Given the description of an element on the screen output the (x, y) to click on. 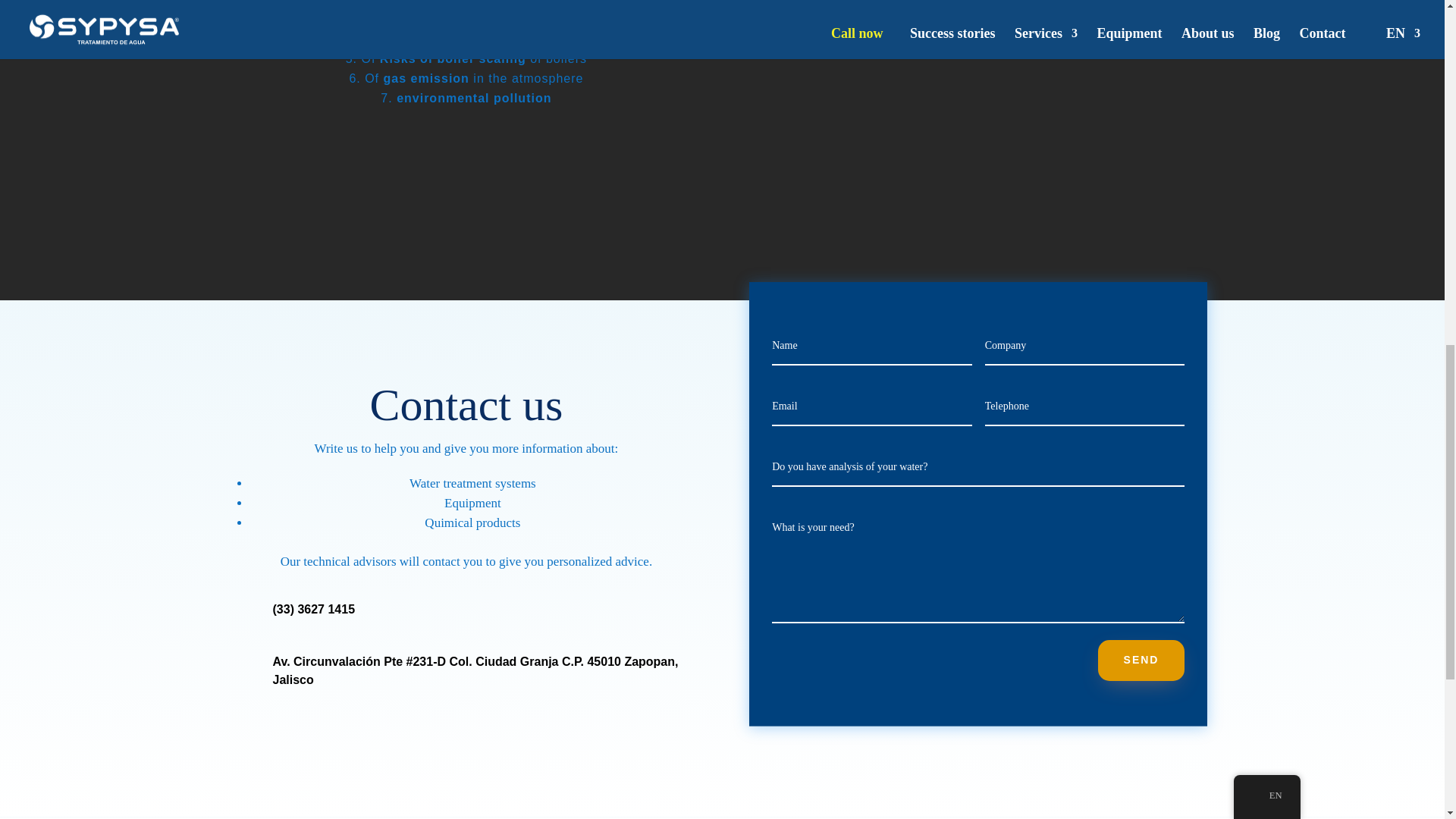
SEND (1141, 659)
parametros-caso-de-exito (955, 83)
